Given the description of an element on the screen output the (x, y) to click on. 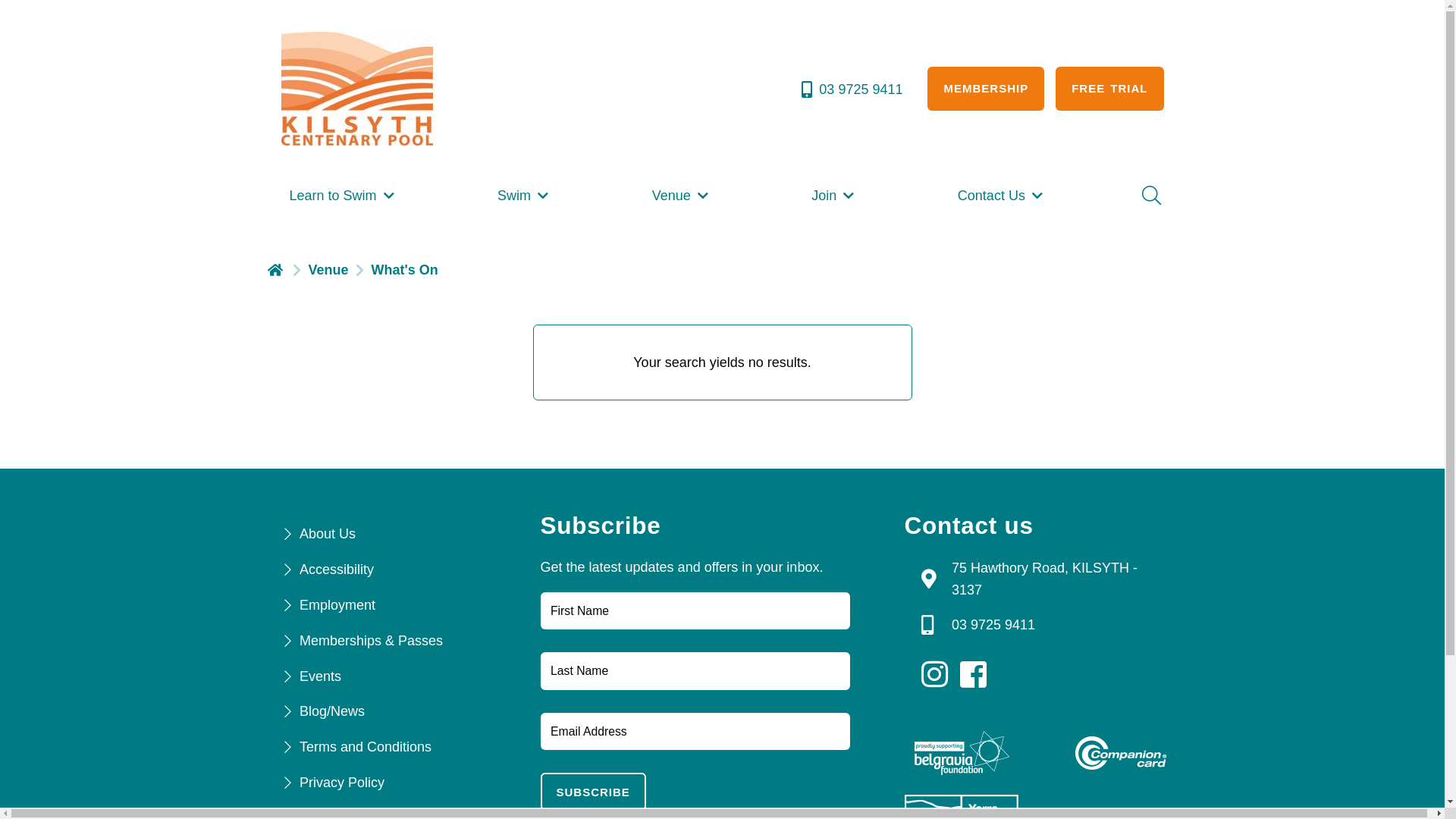
Privacy Policy Element type: text (341, 782)
Search Element type: text (1150, 195)
About Us Element type: text (327, 533)
03 9725 9411 Element type: text (993, 624)
MEMBERSHIP Element type: text (985, 88)
FREE TRIAL Element type: text (1109, 88)
Employment Element type: text (337, 604)
  Element type: text (275, 268)
  Element type: text (977, 674)
  Element type: text (938, 674)
Memberships & Passes Element type: text (370, 640)
Terms and Conditions Element type: text (365, 746)
subscribe Element type: text (592, 791)
Learn to Swim Element type: text (342, 195)
Venue Element type: text (681, 195)
Contact Us Element type: text (1001, 195)
Swim Element type: text (524, 195)
Events Element type: text (320, 676)
Blog/News Element type: text (331, 710)
Accessibility Element type: text (336, 569)
03 9725 9411 Element type: text (850, 89)
Join Element type: text (833, 195)
